Given the description of an element on the screen output the (x, y) to click on. 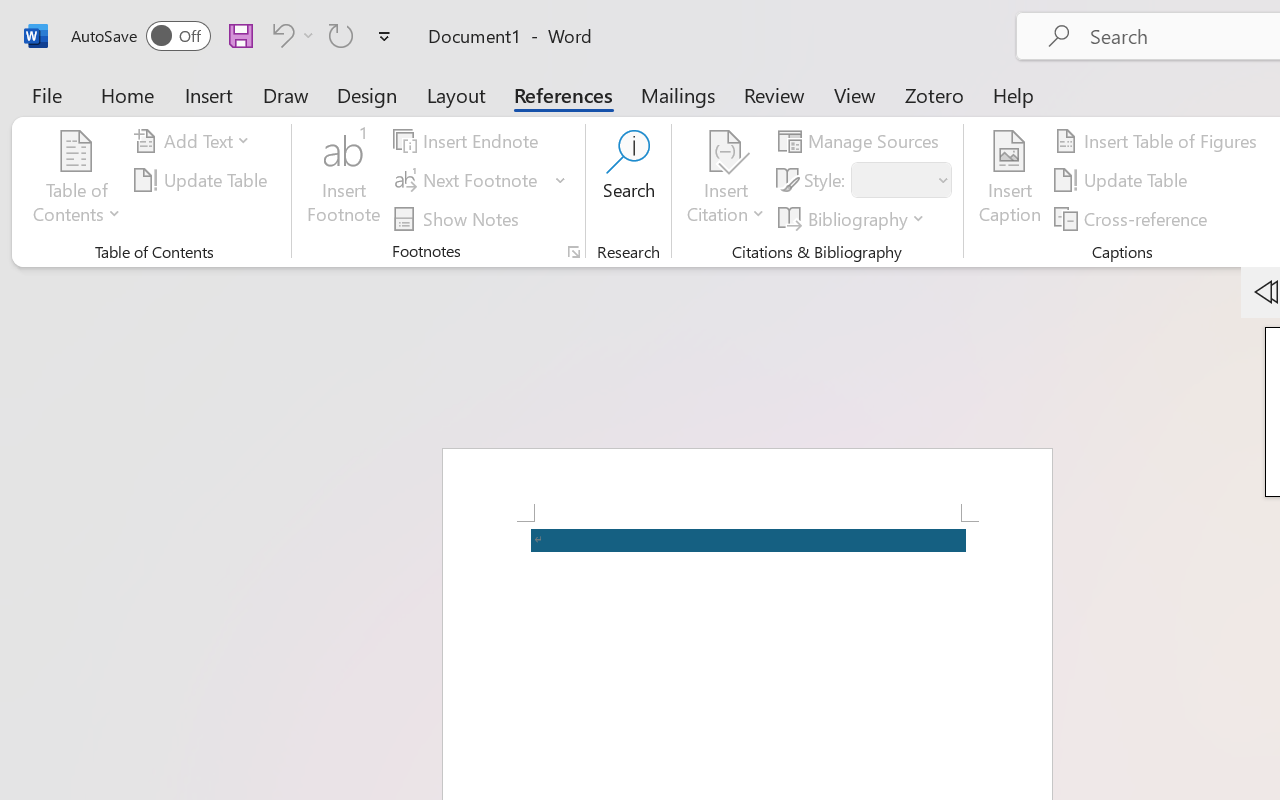
Add Text (195, 141)
Update Table (1124, 179)
Manage Sources... (861, 141)
Insert Citation (726, 179)
Next Footnote (468, 179)
Undo Apply Quick Style Set (280, 35)
Search (628, 179)
